Given the description of an element on the screen output the (x, y) to click on. 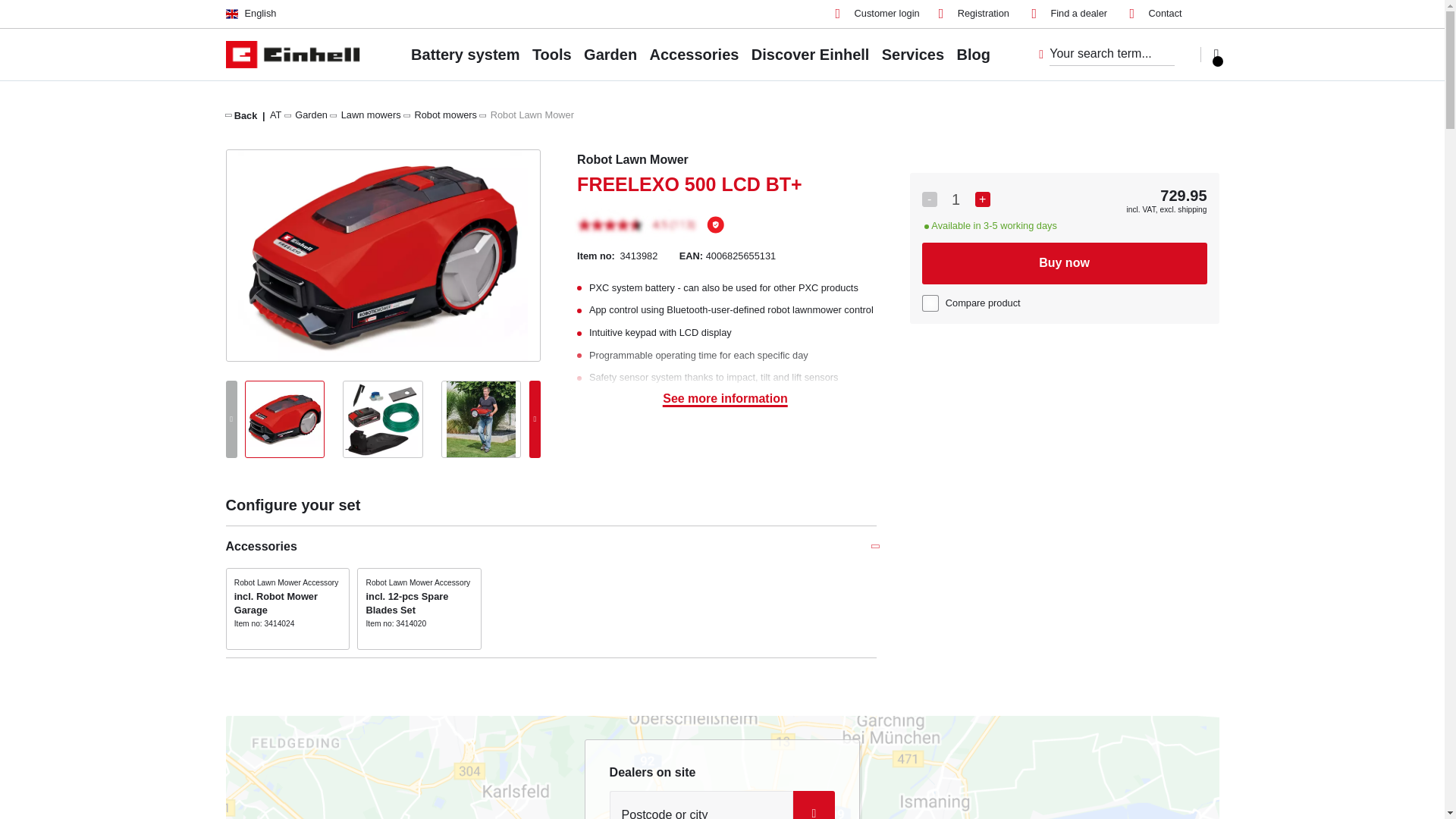
Lawn mowers (370, 114)
1 (956, 199)
Tools (552, 54)
AT (275, 114)
Contact (1155, 13)
Find a dealer (1068, 13)
Registration (974, 13)
Garden (311, 114)
Customer login (877, 13)
Robot mowers (445, 114)
Battery system (464, 54)
